Given the description of an element on the screen output the (x, y) to click on. 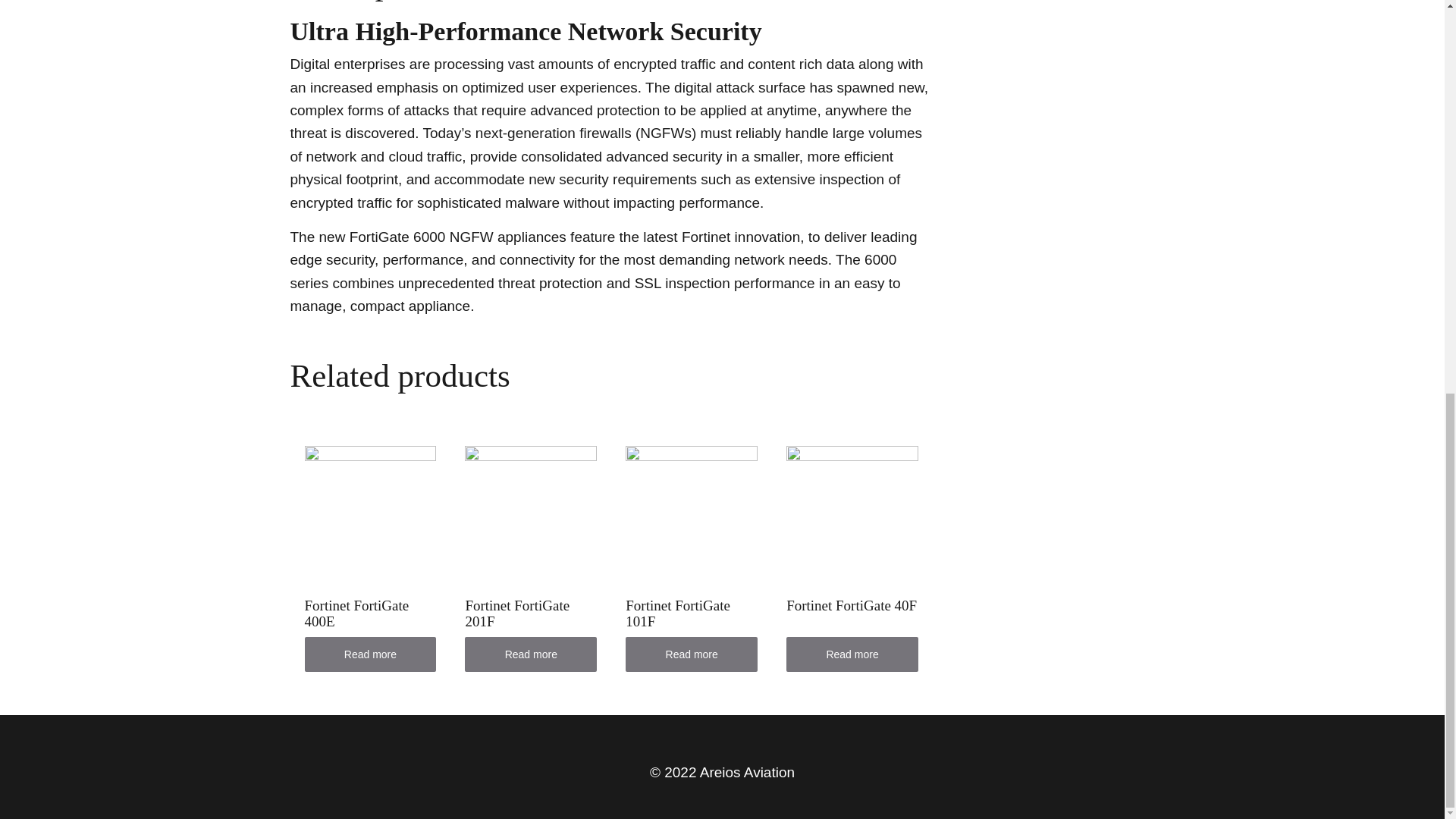
Read more (370, 654)
Read more (691, 654)
Read more (530, 654)
Read more (852, 654)
